Given the description of an element on the screen output the (x, y) to click on. 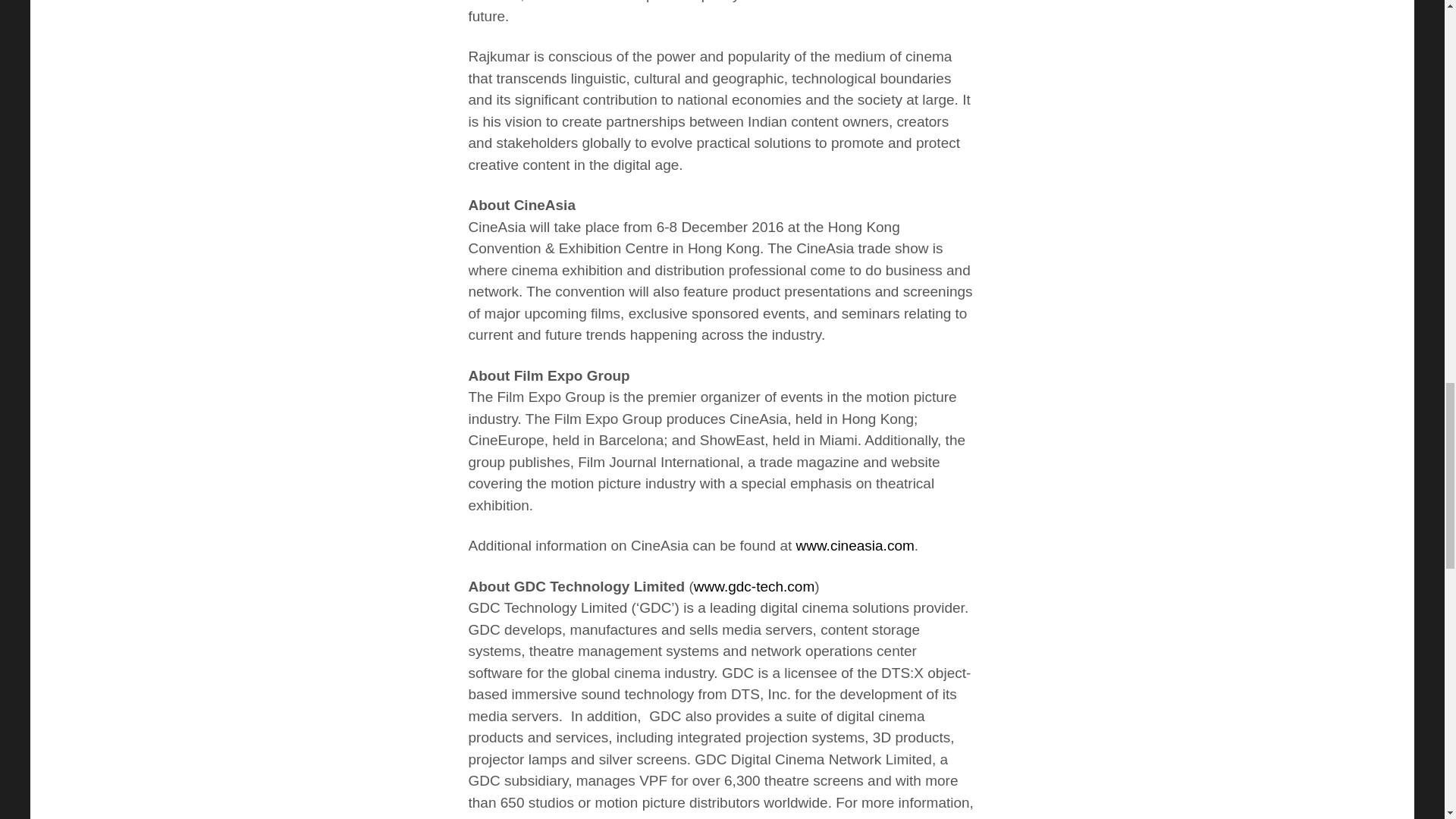
www.gdc-tech.com (603, 817)
www.cineasia.com (855, 545)
www.gdc-tech.com (753, 586)
